Given the description of an element on the screen output the (x, y) to click on. 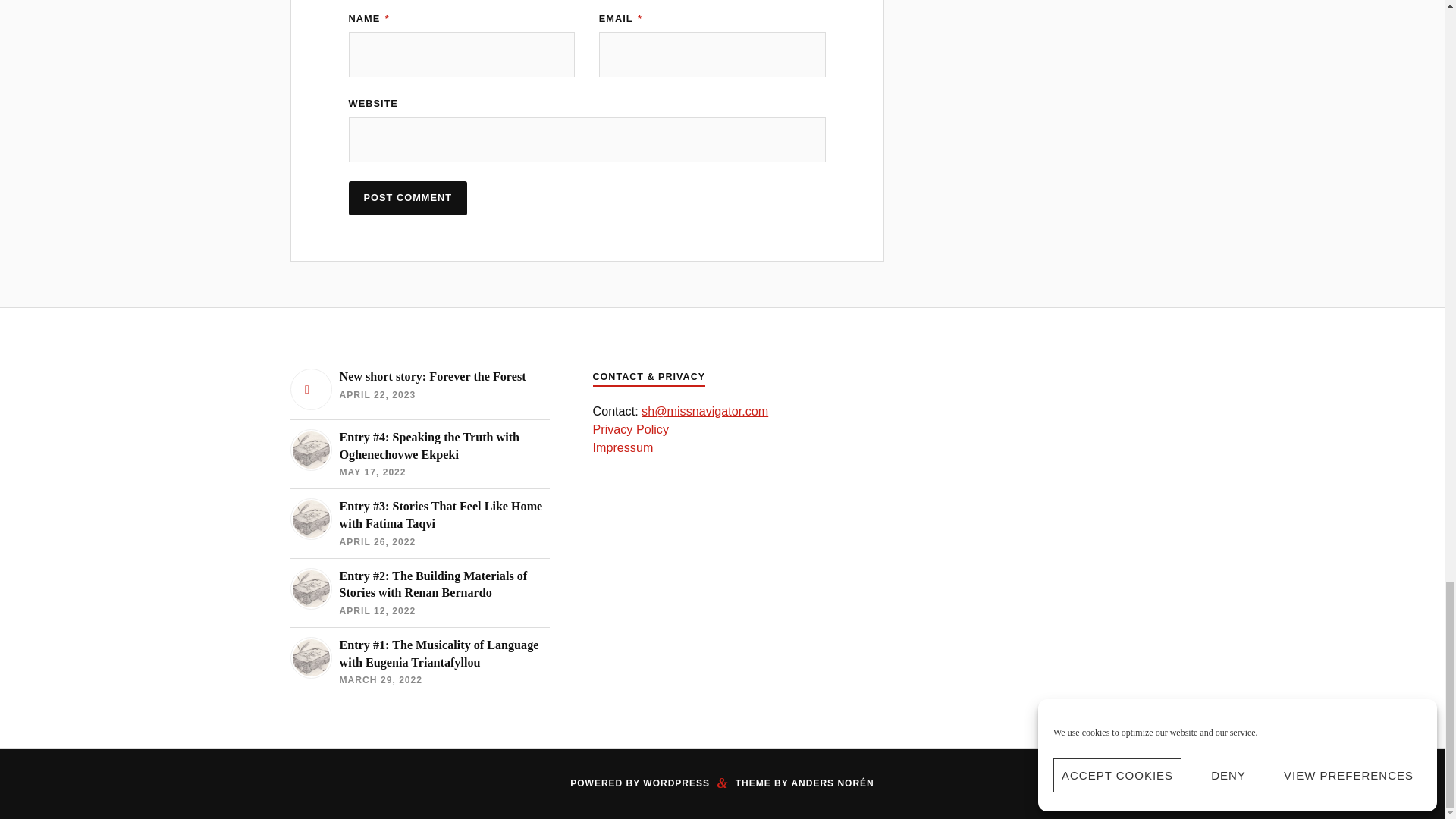
Post Comment (408, 197)
